Given the description of an element on the screen output the (x, y) to click on. 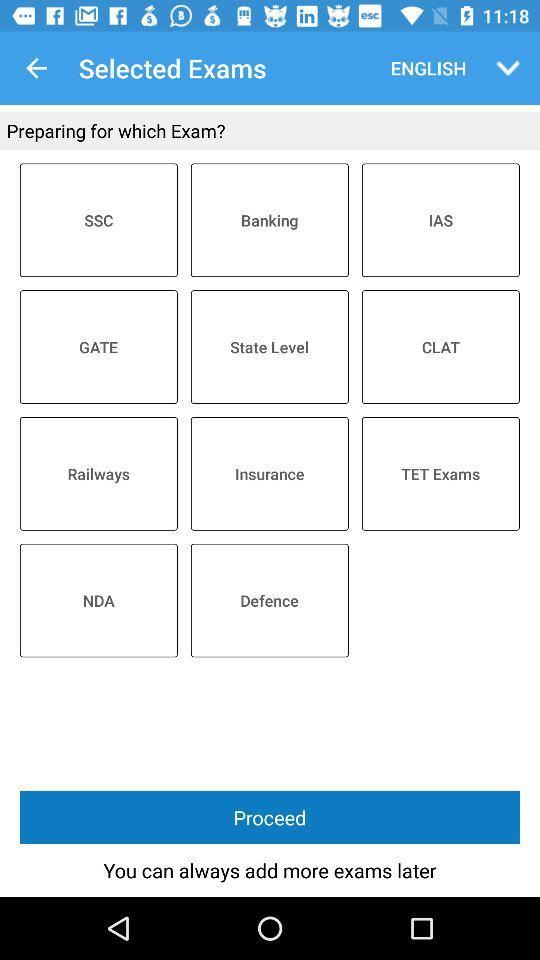
select app next to the selected exams item (36, 68)
